Given the description of an element on the screen output the (x, y) to click on. 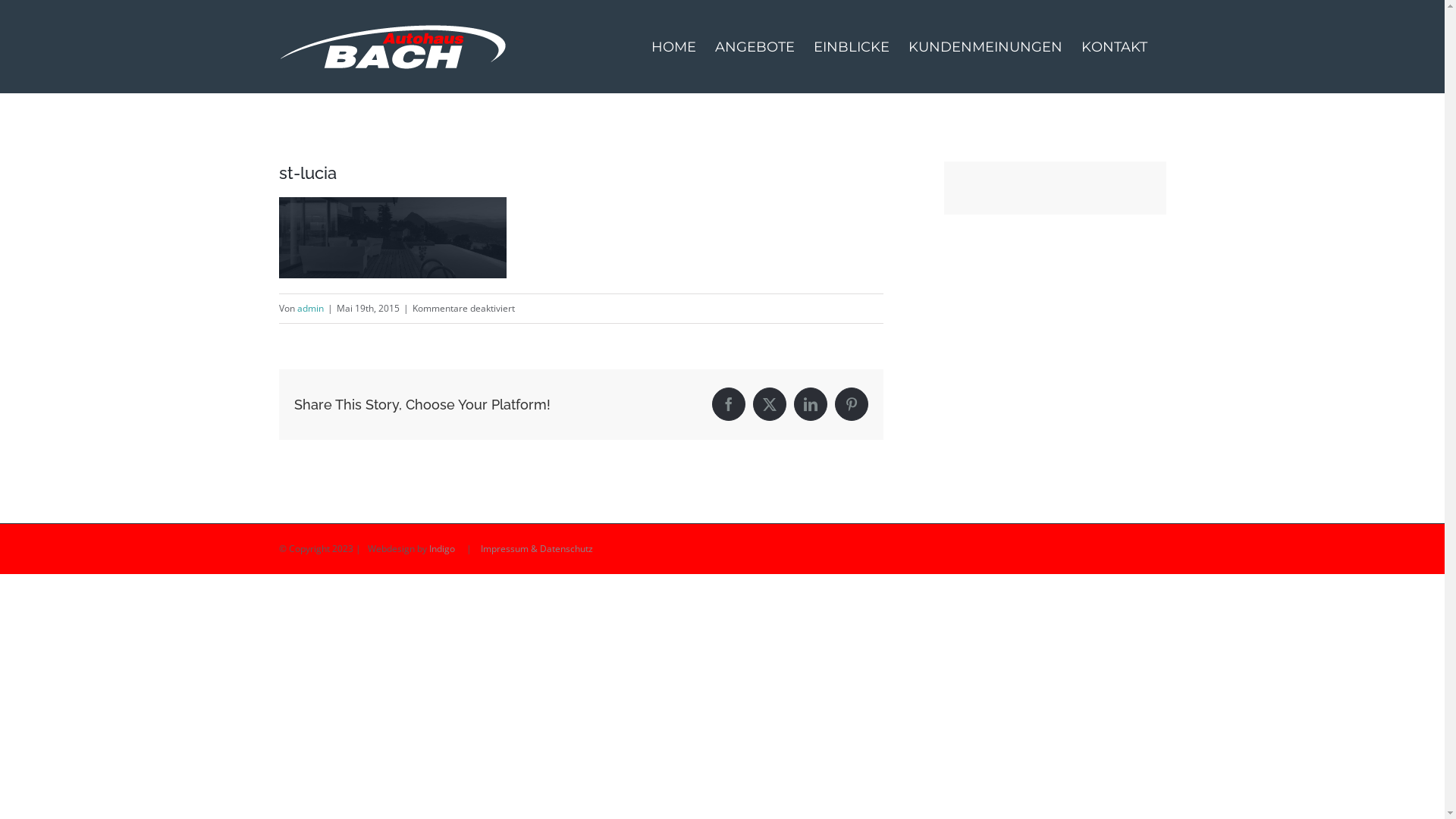
EINBLICKE Element type: text (850, 45)
KUNDENMEINUNGEN Element type: text (985, 45)
admin Element type: text (310, 307)
ANGEBOTE Element type: text (753, 45)
Pinterest Element type: text (851, 403)
Twitter Element type: text (769, 403)
Indigo Element type: text (442, 548)
Facebook Element type: text (728, 403)
LinkedIn Element type: text (810, 403)
HOME Element type: text (672, 45)
KONTAKT Element type: text (1114, 45)
Impressum & Datenschutz Element type: text (536, 548)
